Given the description of an element on the screen output the (x, y) to click on. 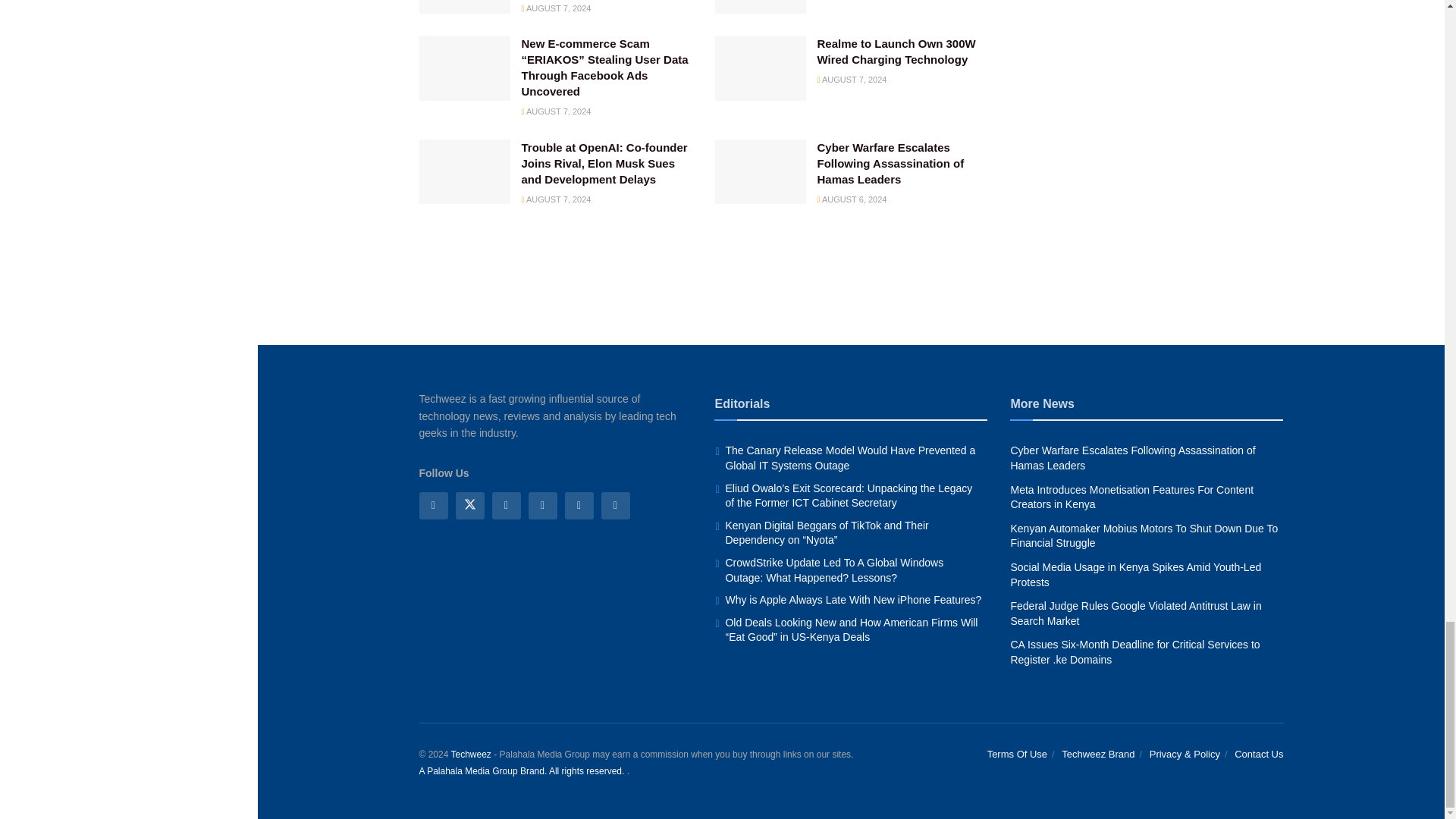
Techweez, a Palahala Media Group Brand. All rights reserved (469, 754)
